Given the description of an element on the screen output the (x, y) to click on. 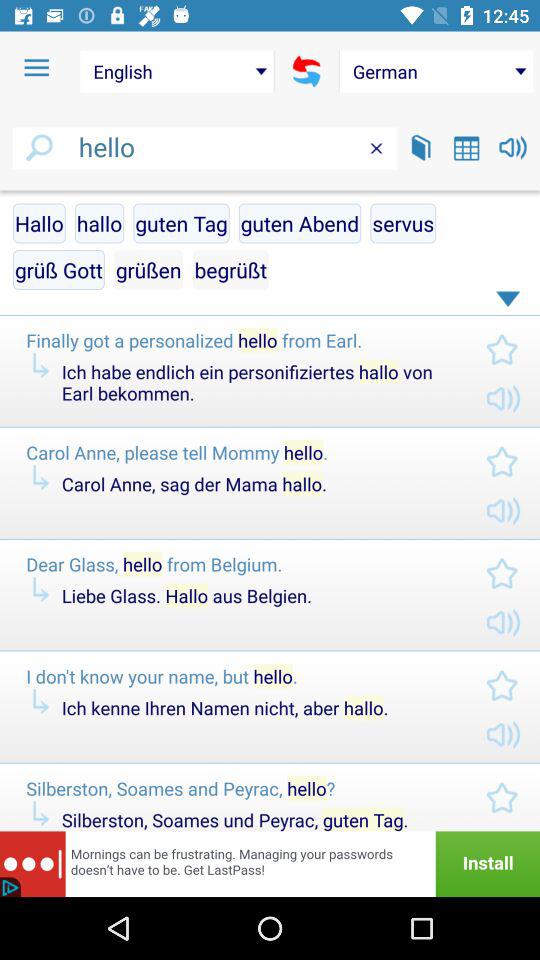
choose icon next to the english item (36, 68)
